Given the description of an element on the screen output the (x, y) to click on. 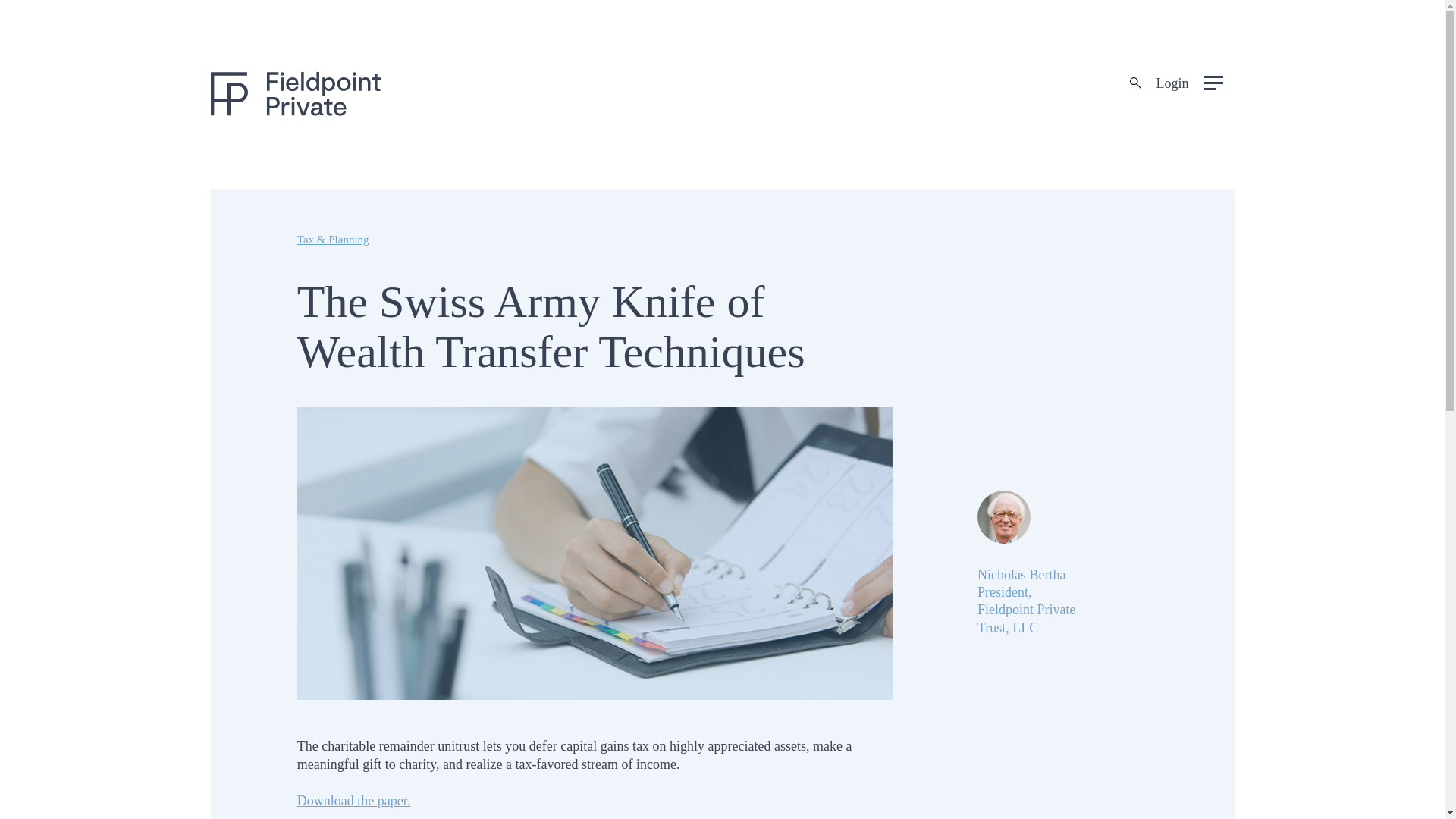
Search (21, 7)
Download the paper. (353, 800)
